Given the description of an element on the screen output the (x, y) to click on. 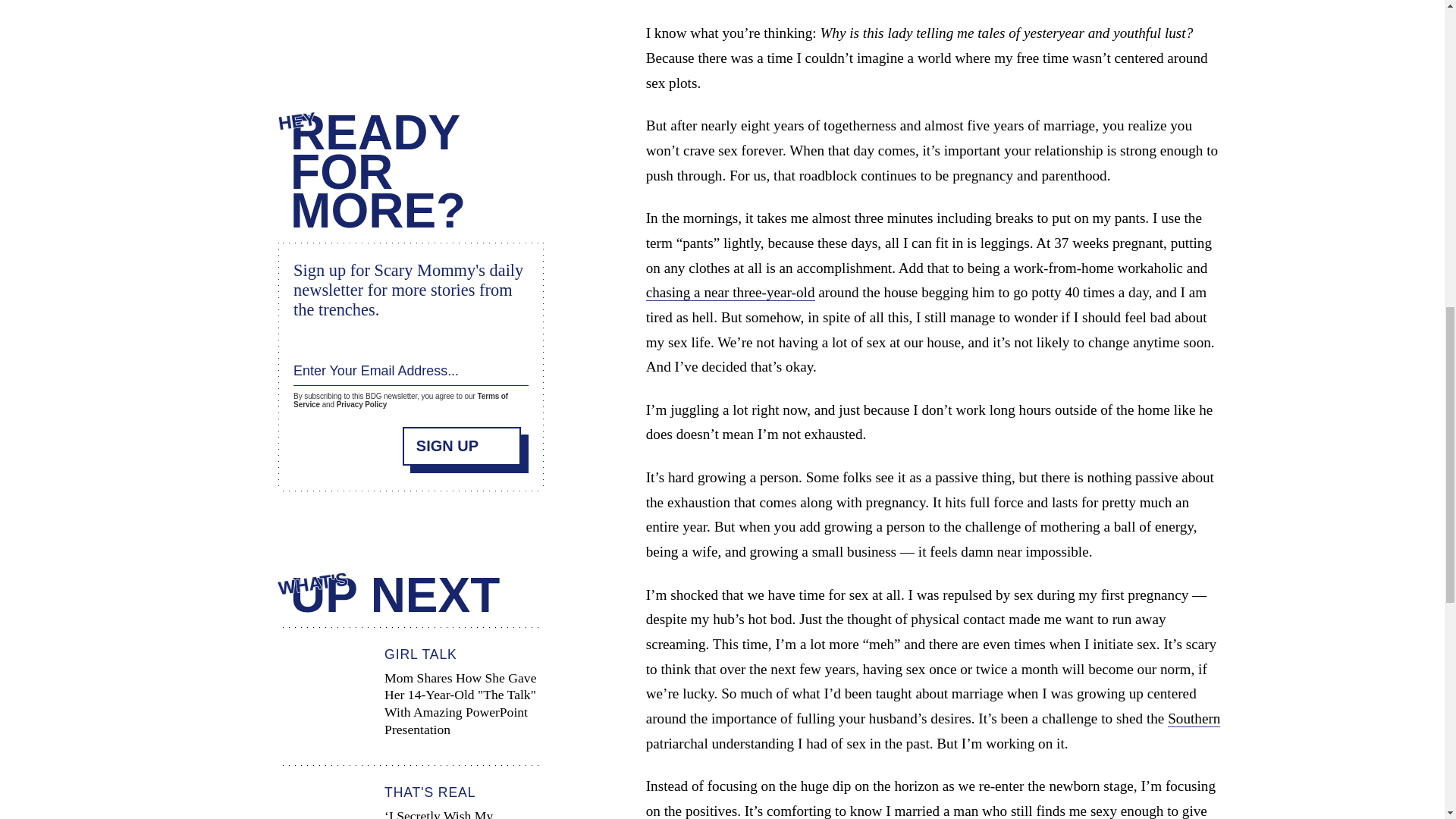
Terms of Service (401, 399)
SIGN UP (462, 444)
chasing a near three-year-old (730, 292)
Southern (1193, 718)
Privacy Policy (361, 404)
